Given the description of an element on the screen output the (x, y) to click on. 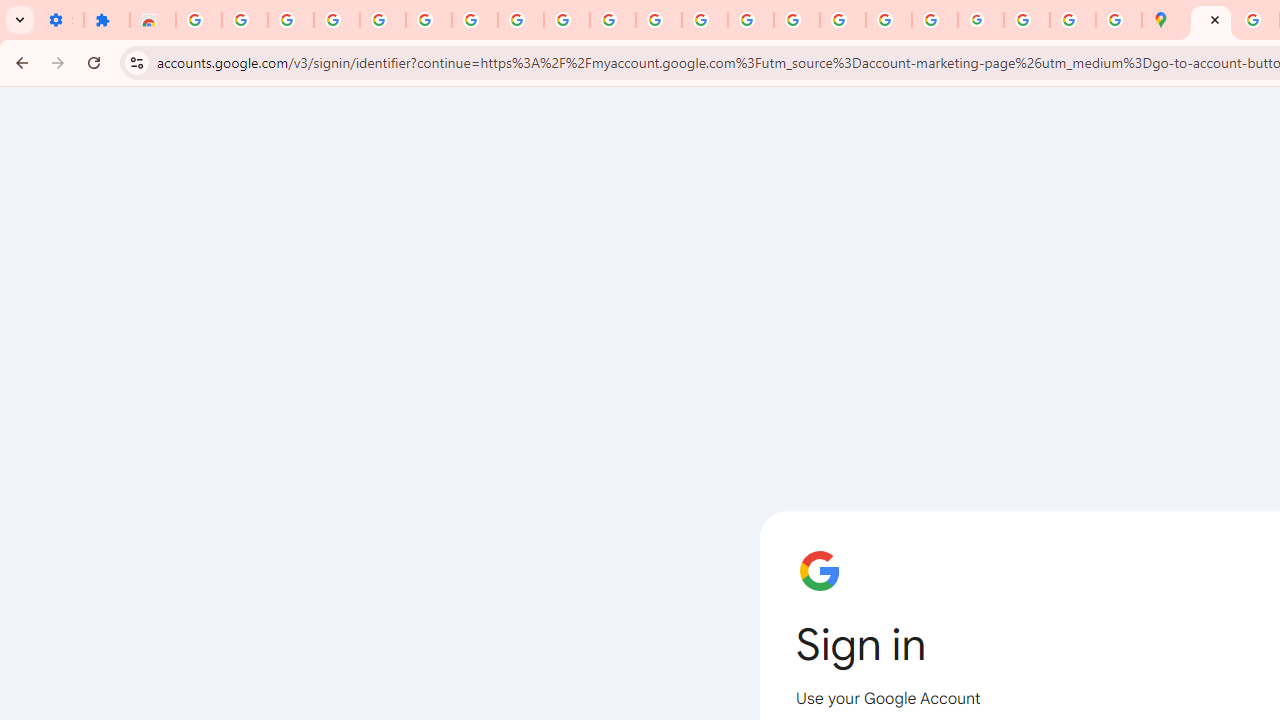
Reviews: Helix Fruit Jump Arcade Game (153, 20)
